Given the description of an element on the screen output the (x, y) to click on. 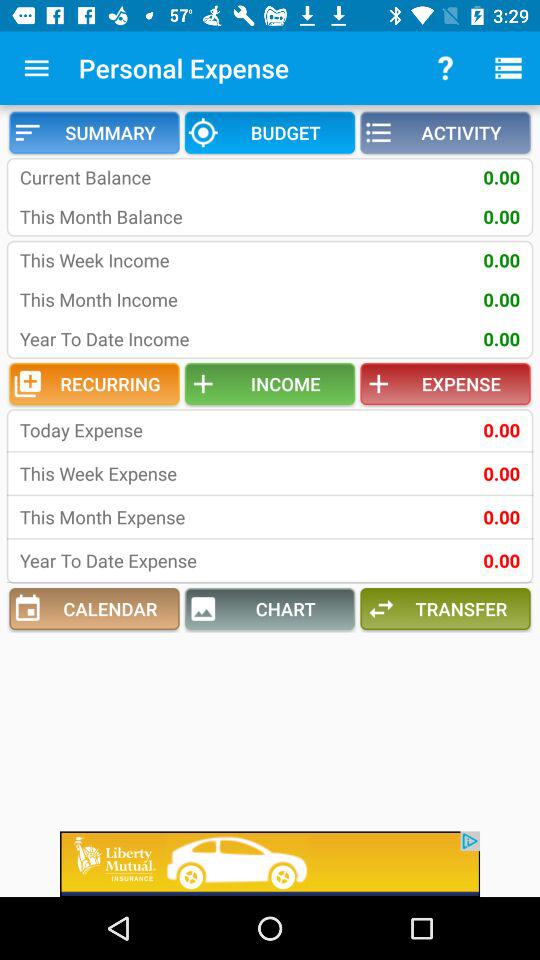
select the activity item (445, 132)
